Given the description of an element on the screen output the (x, y) to click on. 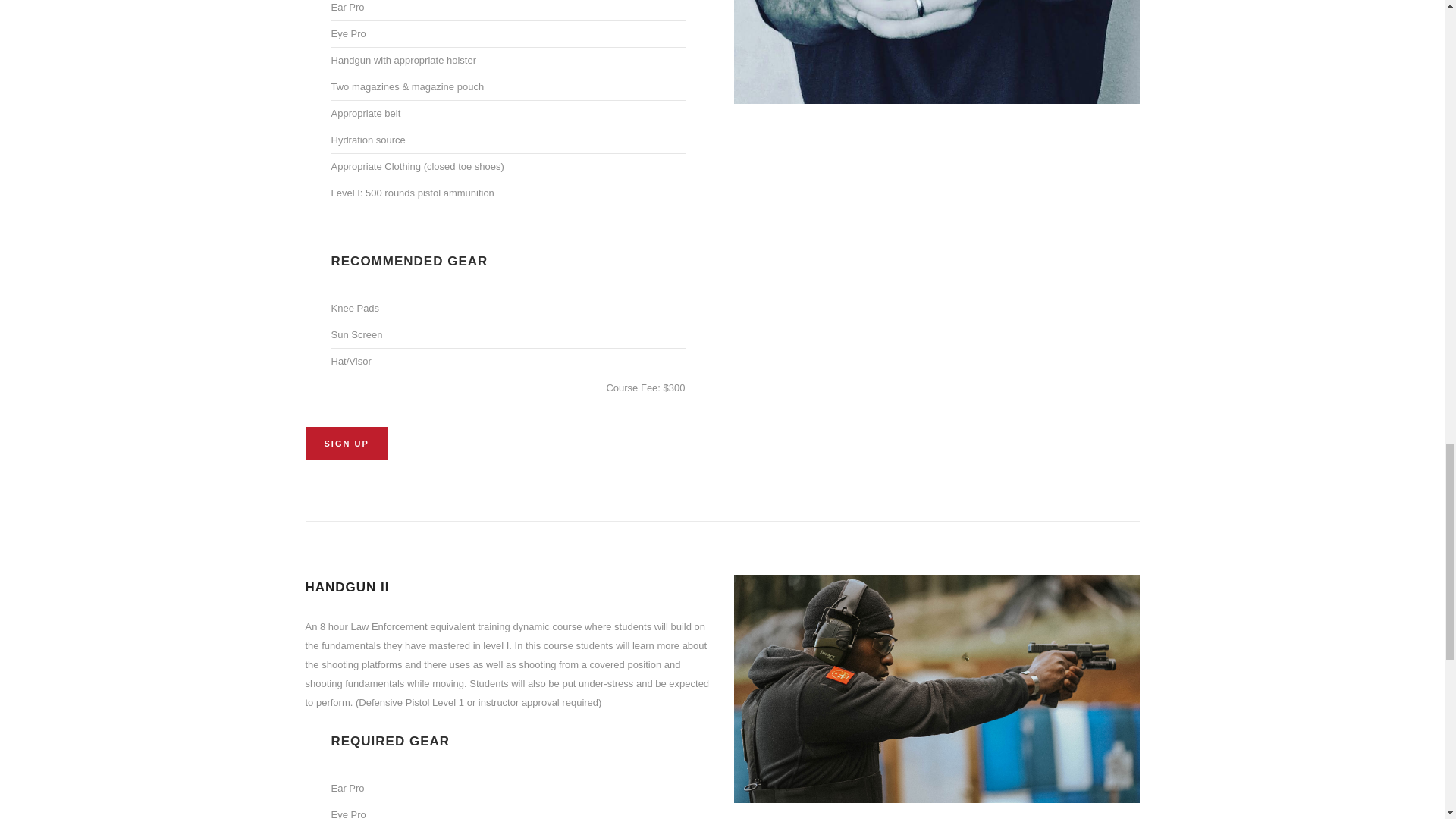
SIGN UP (345, 443)
